Given the description of an element on the screen output the (x, y) to click on. 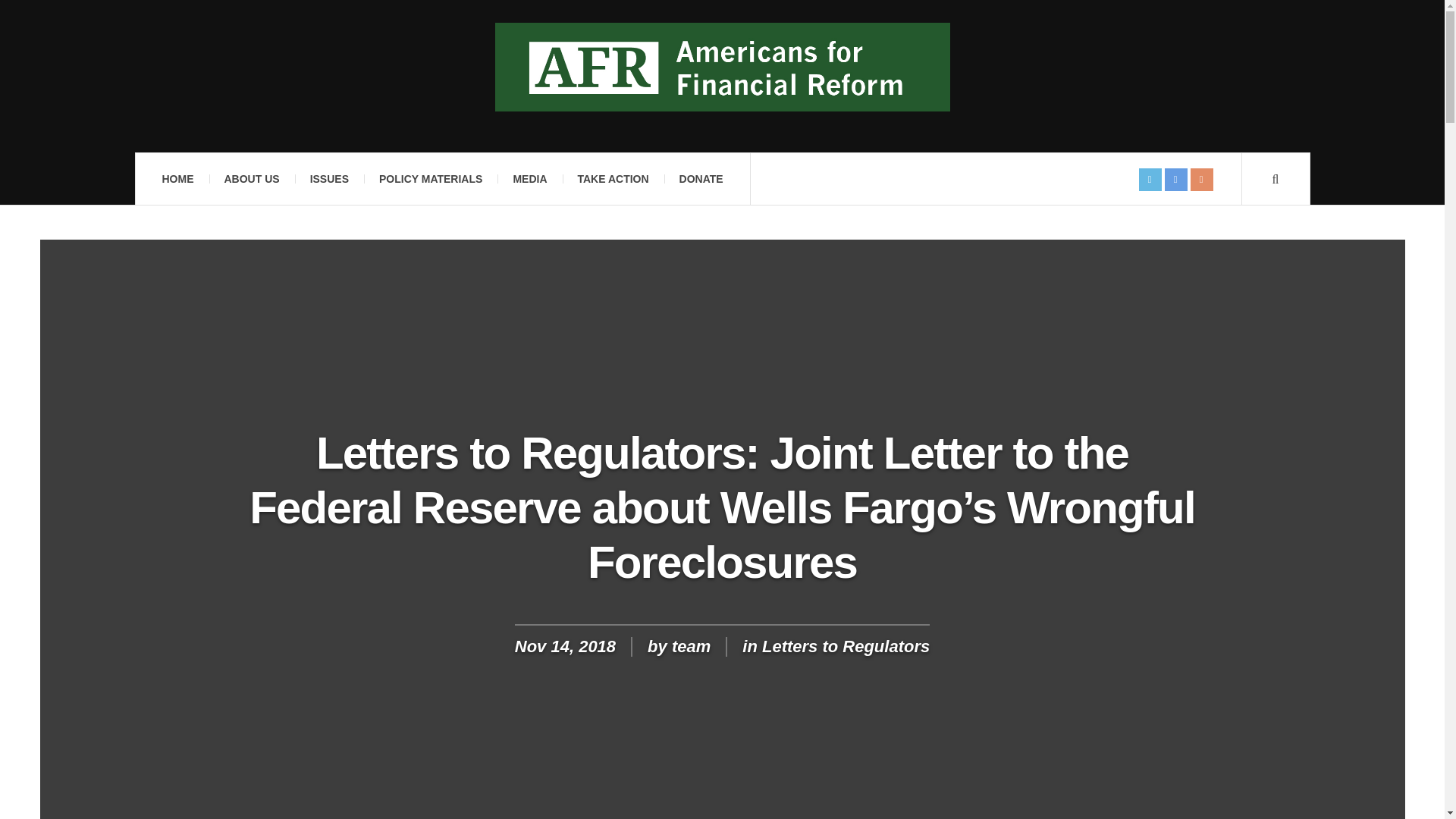
MEDIA (529, 178)
POLICY MATERIALS (430, 178)
HOME (178, 178)
TAKE ACTION (612, 178)
ISSUES (329, 178)
ABOUT US (252, 178)
team (690, 646)
Americans for Financial Reform (722, 66)
DONATE (700, 178)
View all posts in Letters to Regulators (845, 646)
Letters to Regulators (845, 646)
